Given the description of an element on the screen output the (x, y) to click on. 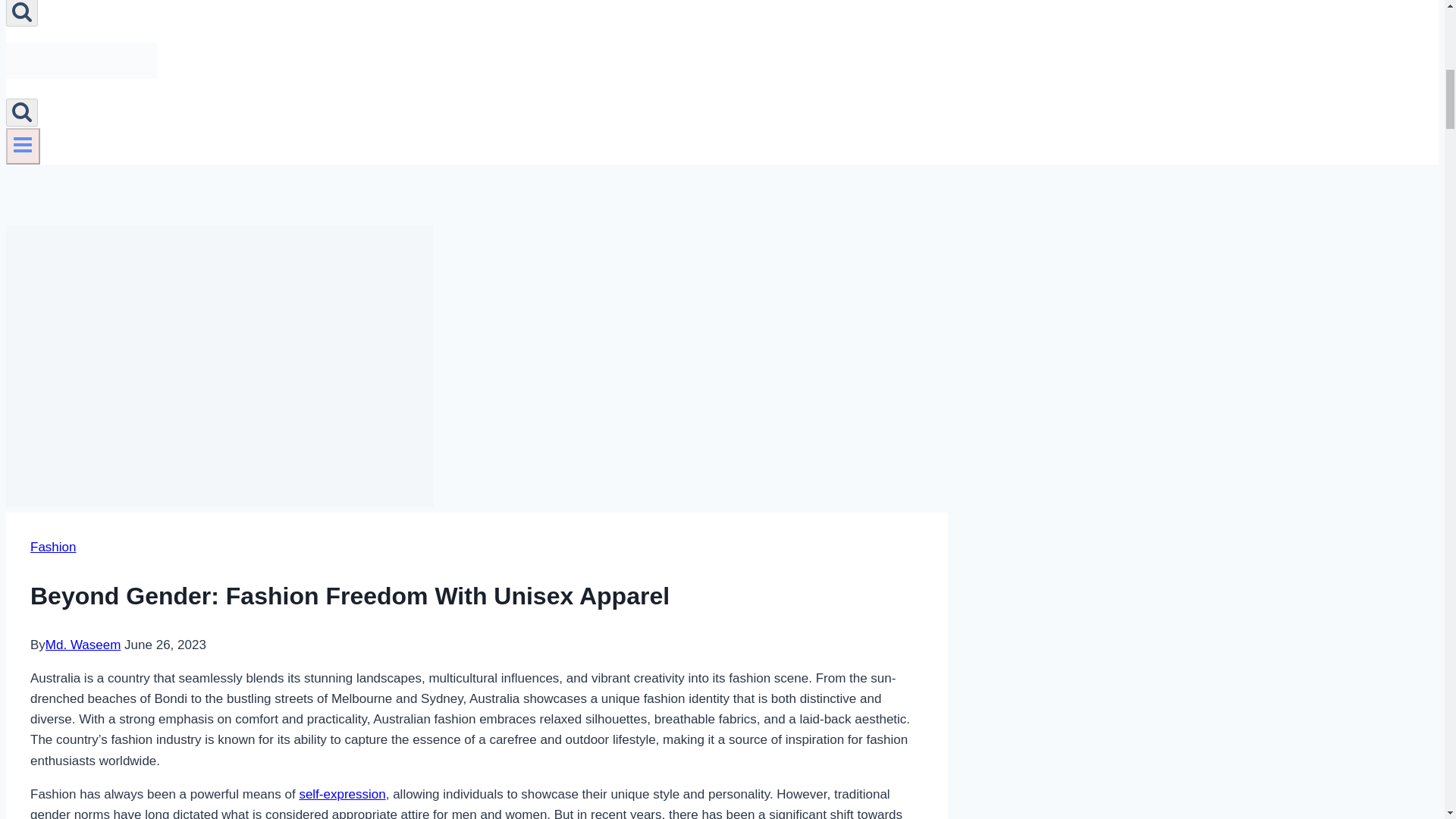
Search (21, 112)
Search (21, 111)
Toggle Menu (22, 145)
Md. Waseem (82, 644)
Search (21, 11)
Fashion (52, 546)
Search (21, 13)
